Given the description of an element on the screen output the (x, y) to click on. 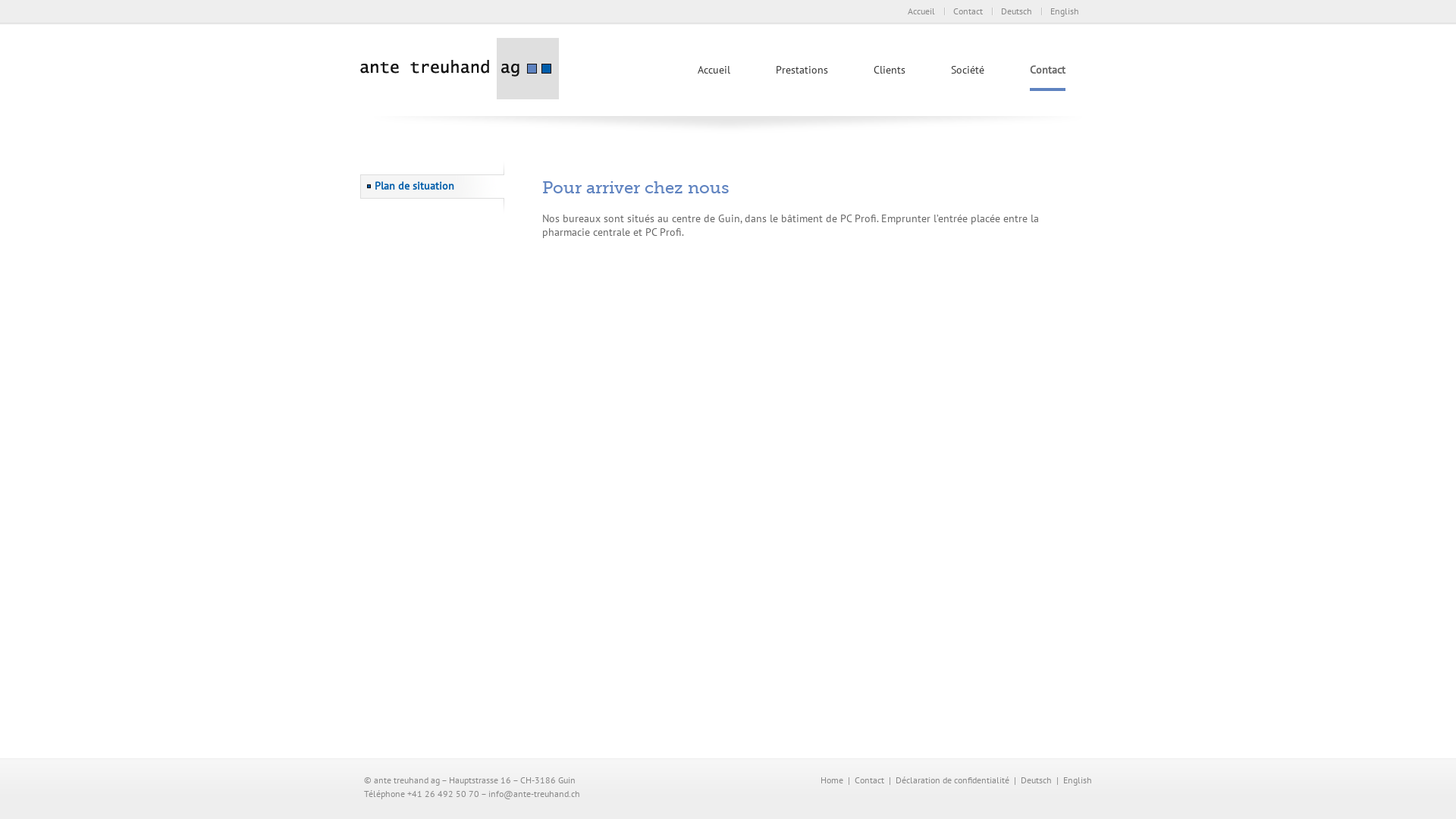
Accueil Element type: text (921, 10)
Plan de situation Element type: text (432, 186)
Contact Element type: text (967, 10)
Clients Element type: text (889, 74)
Deutsch Element type: text (1035, 779)
info@ante-treuhand.ch Element type: text (534, 793)
English Element type: text (1064, 10)
Contact Element type: text (869, 779)
Prestations Element type: text (801, 74)
Accueil Element type: text (713, 74)
English Element type: text (1077, 779)
Contact Element type: text (1047, 76)
Home Element type: text (831, 779)
Deutsch Element type: text (1016, 10)
